Given the description of an element on the screen output the (x, y) to click on. 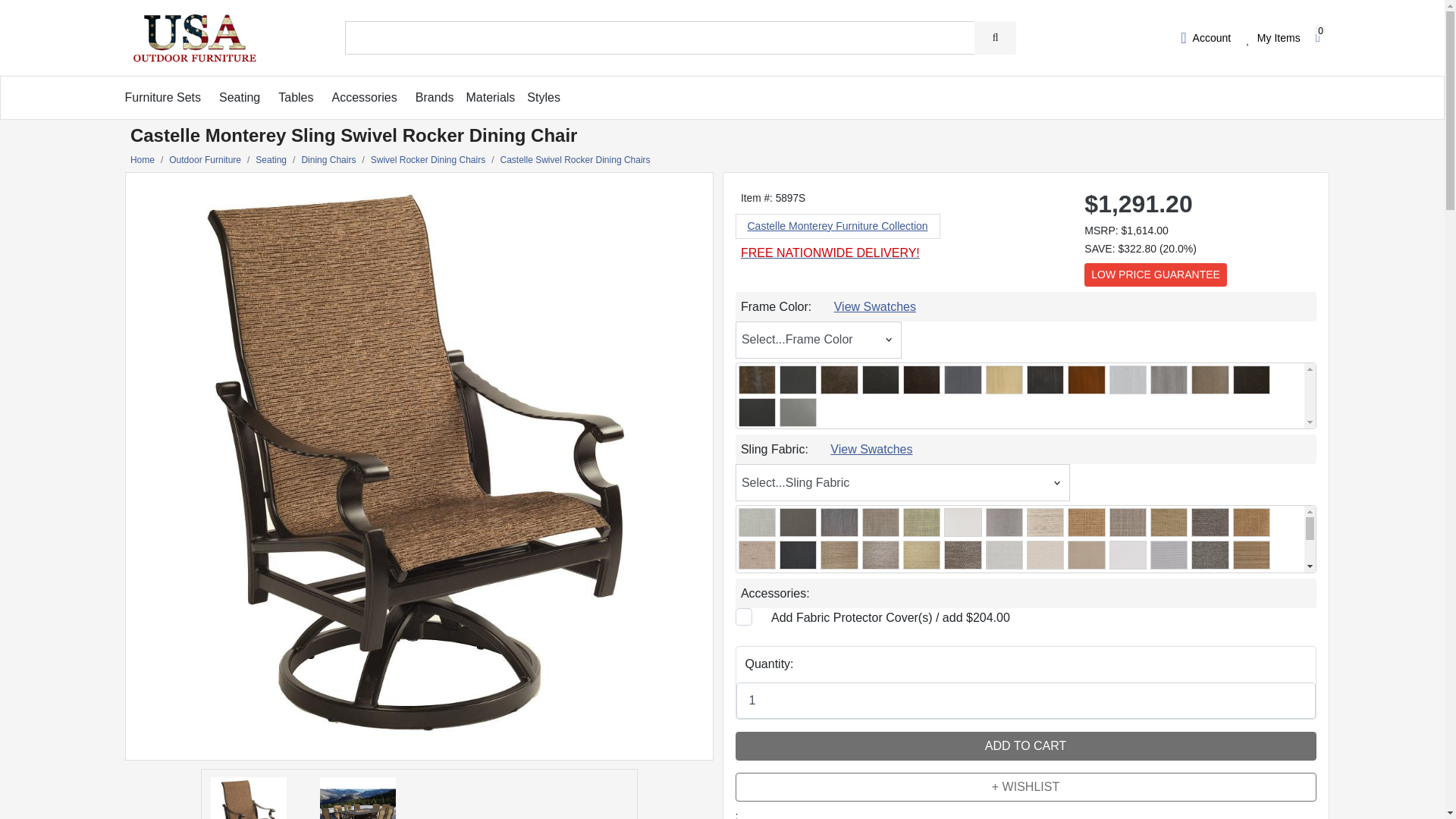
Tables (295, 97)
on (743, 616)
Account (1205, 37)
Seating (239, 97)
Add to Cart (1025, 746)
Furniture Sets (161, 97)
1 (1024, 700)
My Items (1273, 37)
